Given the description of an element on the screen output the (x, y) to click on. 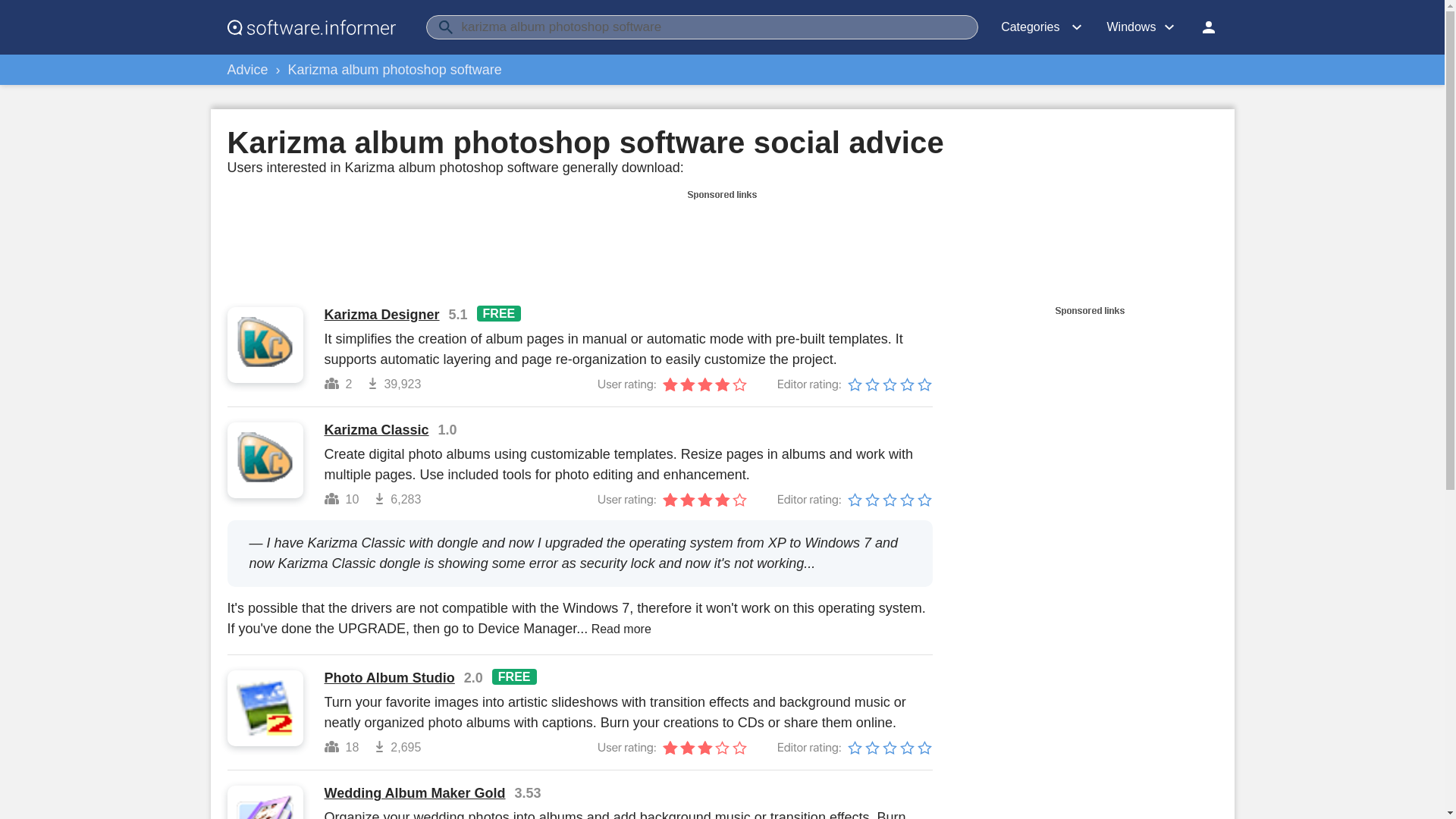
Advice (247, 69)
Wedding Album Maker Gold (414, 793)
Wedding Album Maker Gold (414, 793)
Karizma Classic (376, 430)
Advertisement (721, 238)
Karizma Classic (376, 430)
Karizma album photoshop software (395, 69)
Advertisement (1089, 422)
Karizma Designer (381, 314)
